Given the description of an element on the screen output the (x, y) to click on. 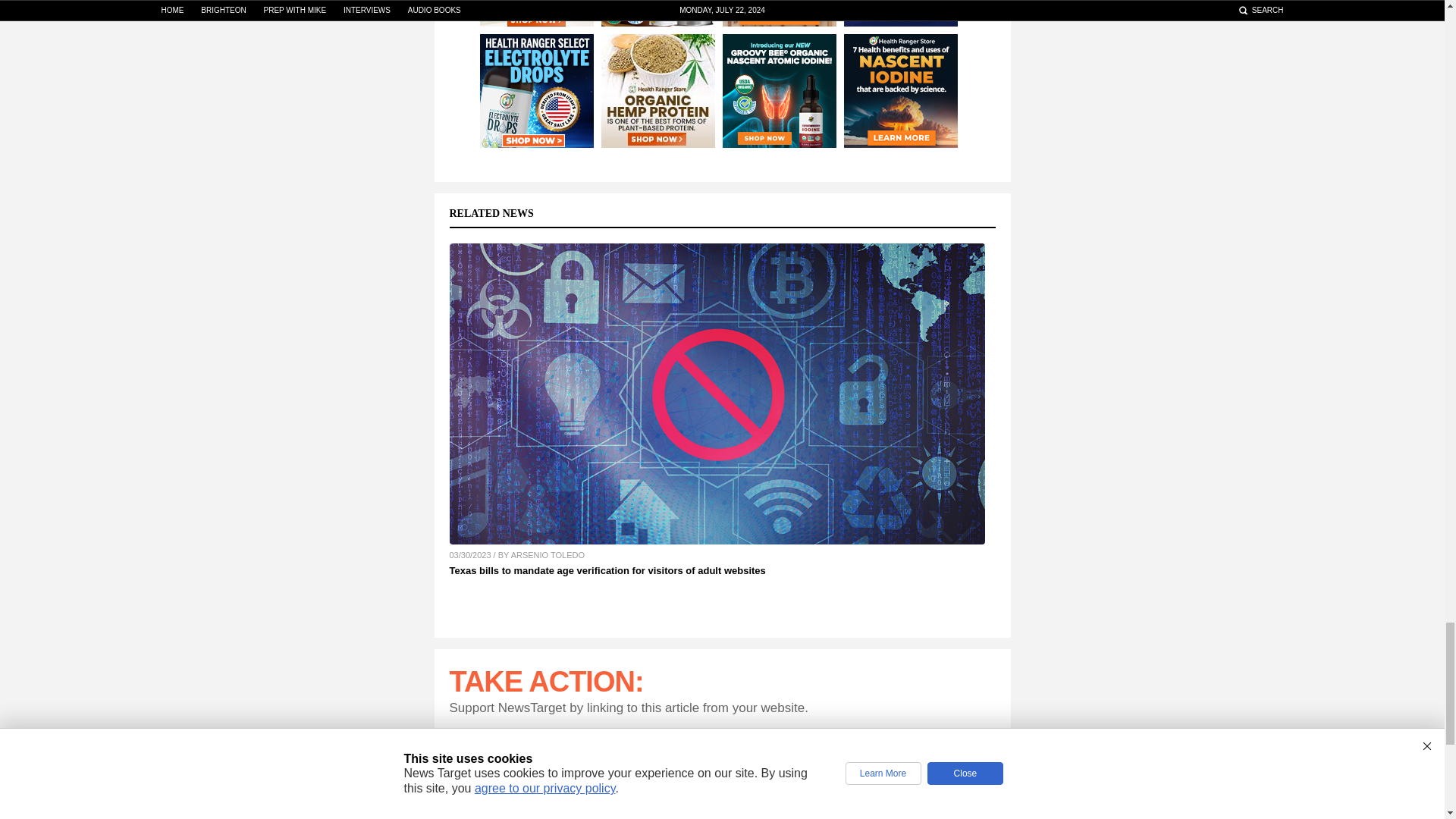
Copy Permalink (971, 768)
Copy Embed Link (971, 817)
